Given the description of an element on the screen output the (x, y) to click on. 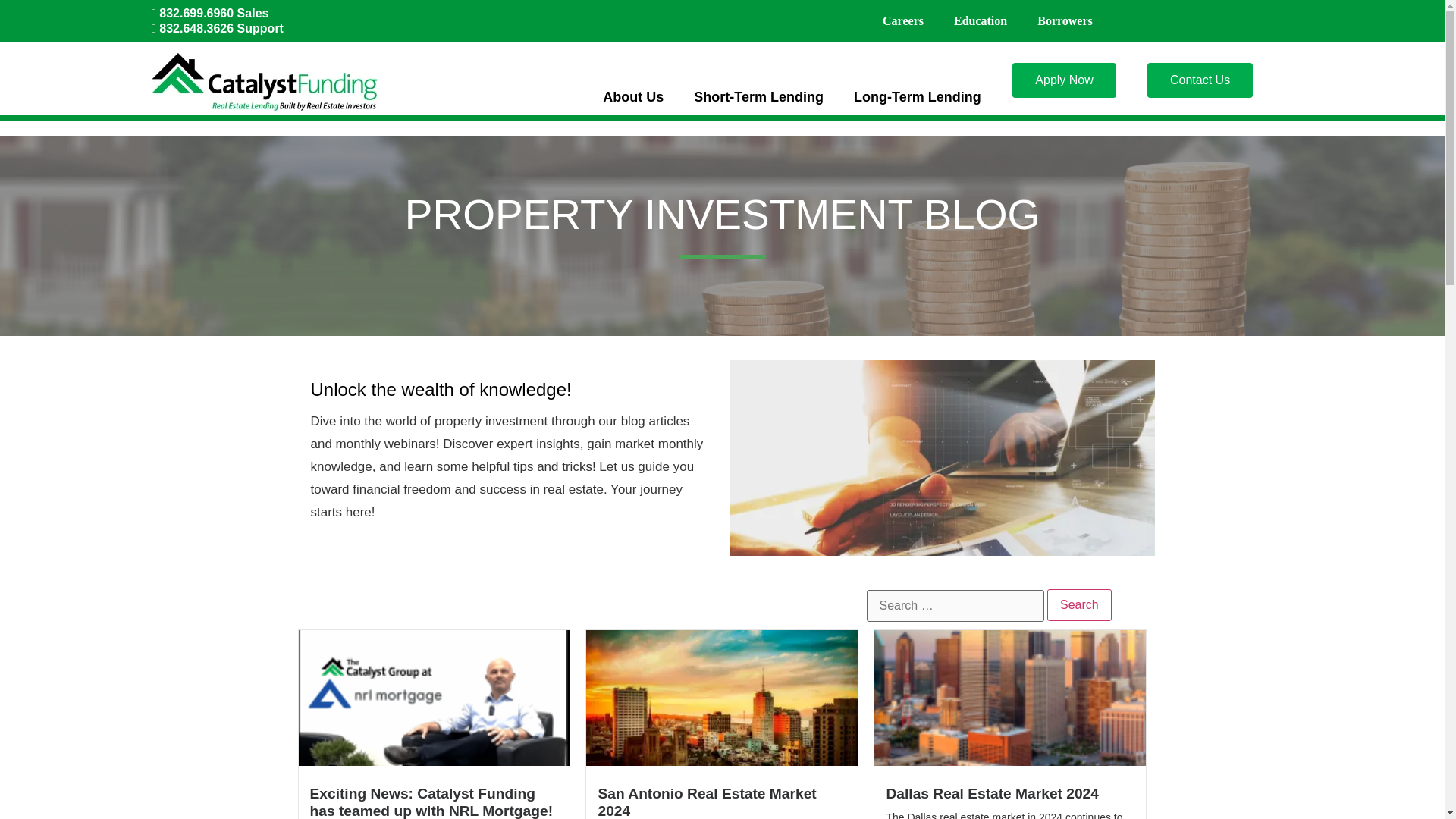
Careers (903, 21)
Education (980, 21)
Dallas Real Estate Market 2024 (992, 793)
Search (1079, 604)
Search (1079, 604)
Borrowers (1065, 21)
832.699.6960 Sales (209, 12)
San Antonio Real Estate Market 2024 (705, 802)
832.648.3626 Support (217, 28)
